Given the description of an element on the screen output the (x, y) to click on. 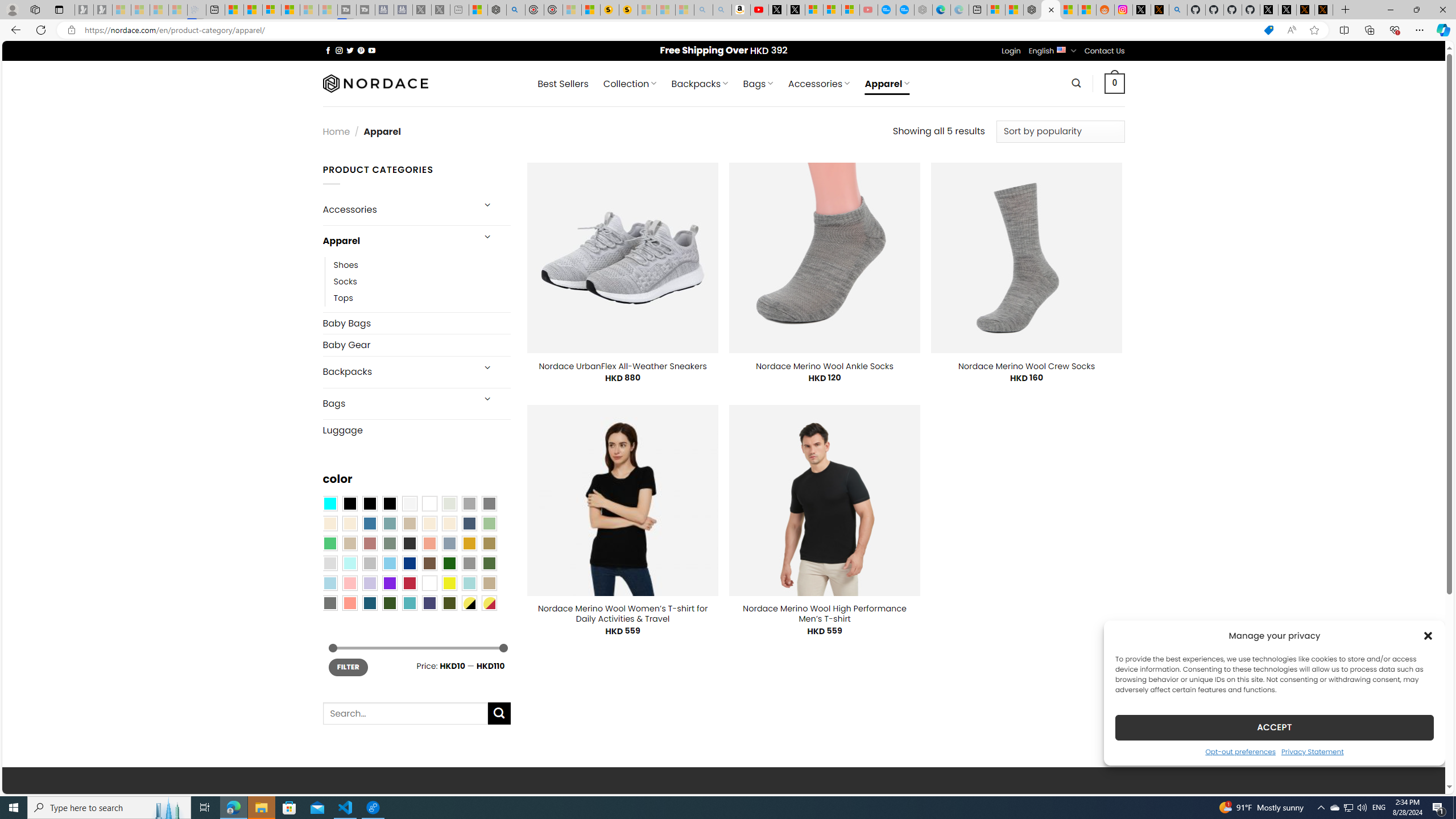
All Black (349, 503)
Luggage (416, 430)
Shoes (422, 264)
Pink (349, 582)
Blue (369, 522)
Luggage (416, 430)
Dull Nickle (329, 602)
Follow on YouTube (371, 49)
Tops (422, 297)
